Given the description of an element on the screen output the (x, y) to click on. 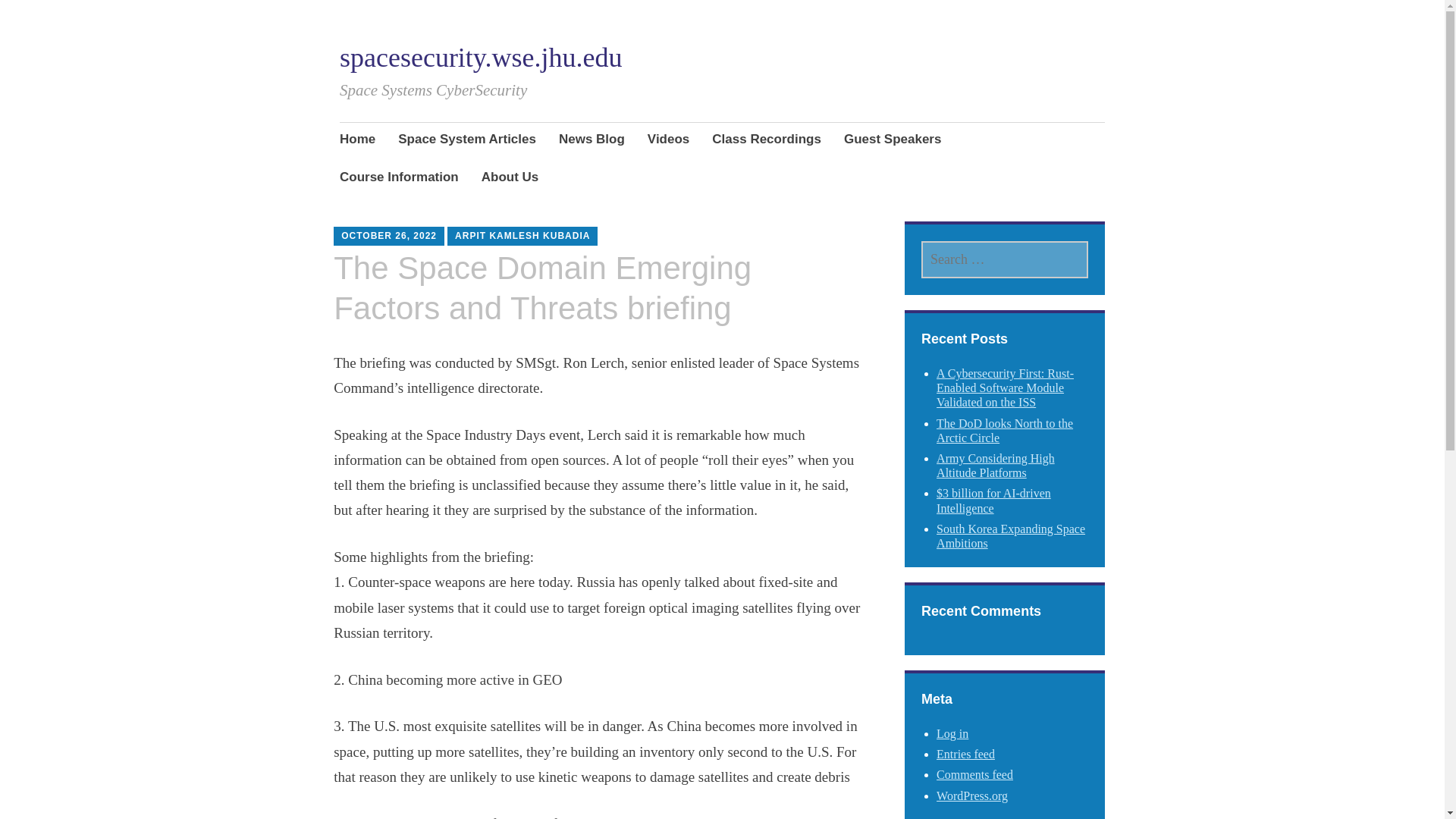
Army Considering High Altitude Platforms (995, 465)
Space System Articles (466, 140)
News Blog (591, 140)
Log in (952, 733)
Videos (667, 140)
About Us (509, 178)
The DoD looks North to the Arctic Circle (1004, 430)
Guest Speakers (893, 140)
Comments feed (974, 774)
South Korea Expanding Space Ambitions (1010, 535)
WordPress.org (971, 795)
Entries feed (965, 753)
spacesecurity.wse.jhu.edu (481, 57)
Class Recordings (766, 140)
